Given the description of an element on the screen output the (x, y) to click on. 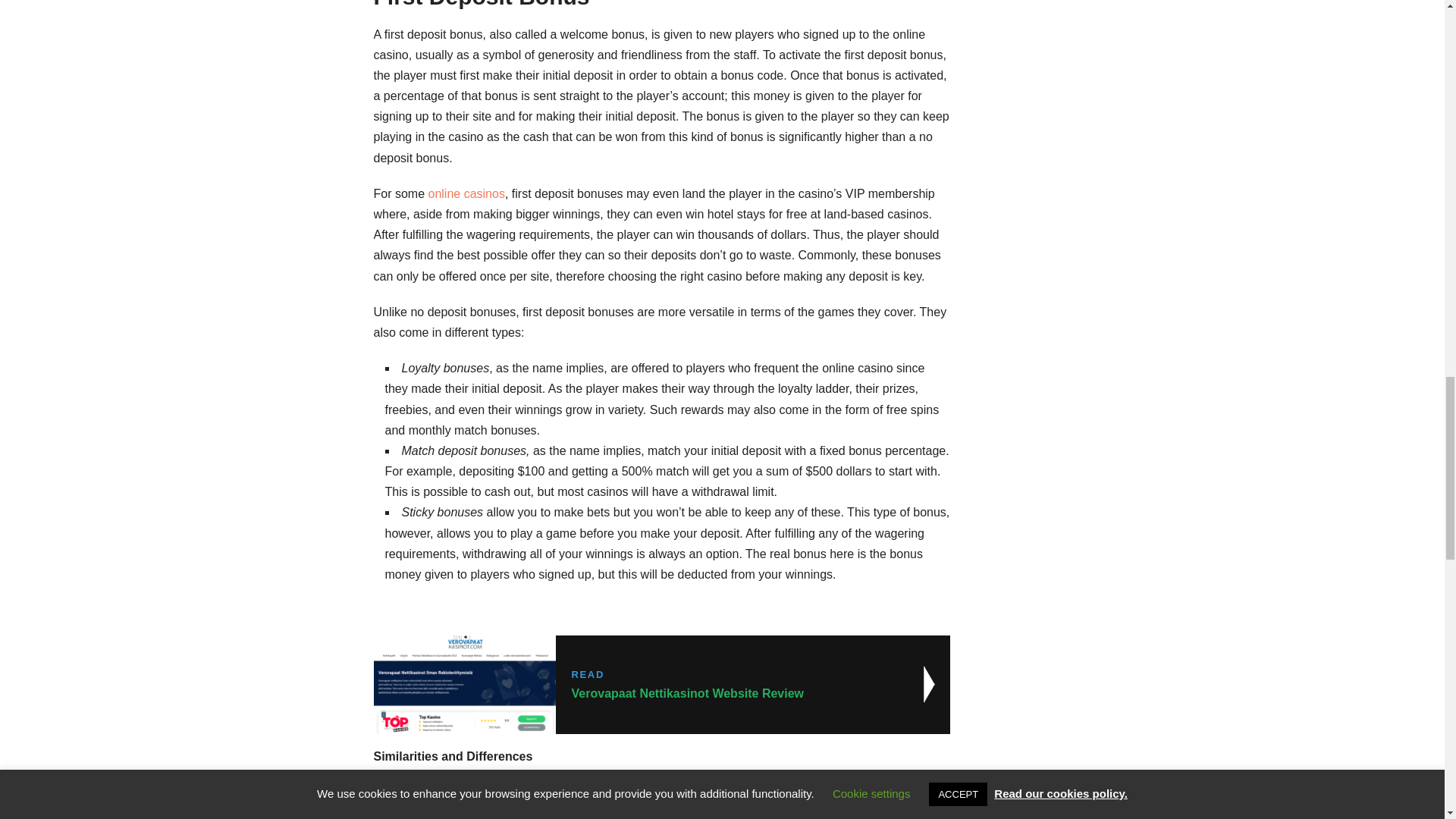
online casinos (660, 684)
